Given the description of an element on the screen output the (x, y) to click on. 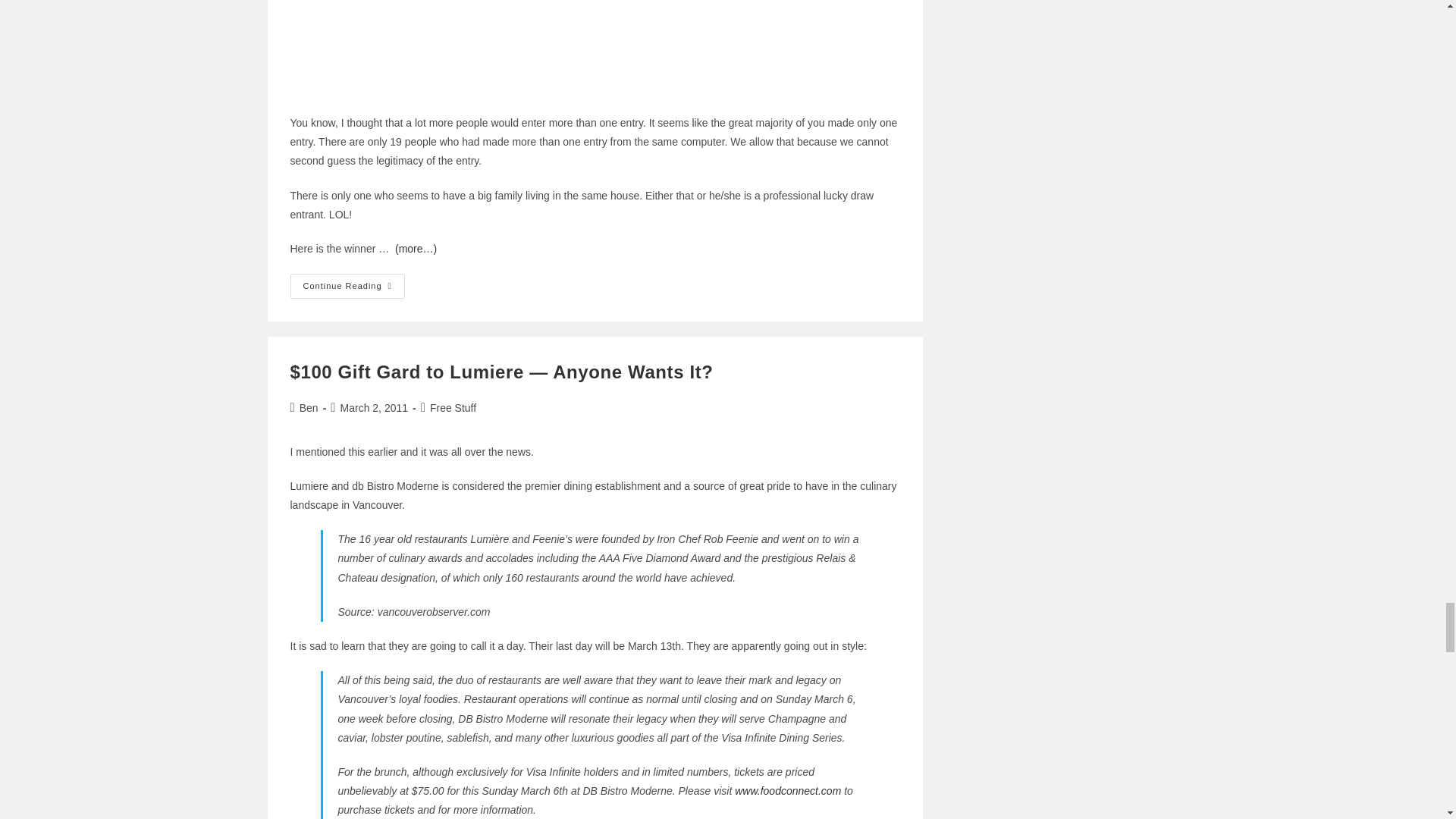
www.foodconnect.com (788, 790)
Posts by Ben (308, 408)
